Given the description of an element on the screen output the (x, y) to click on. 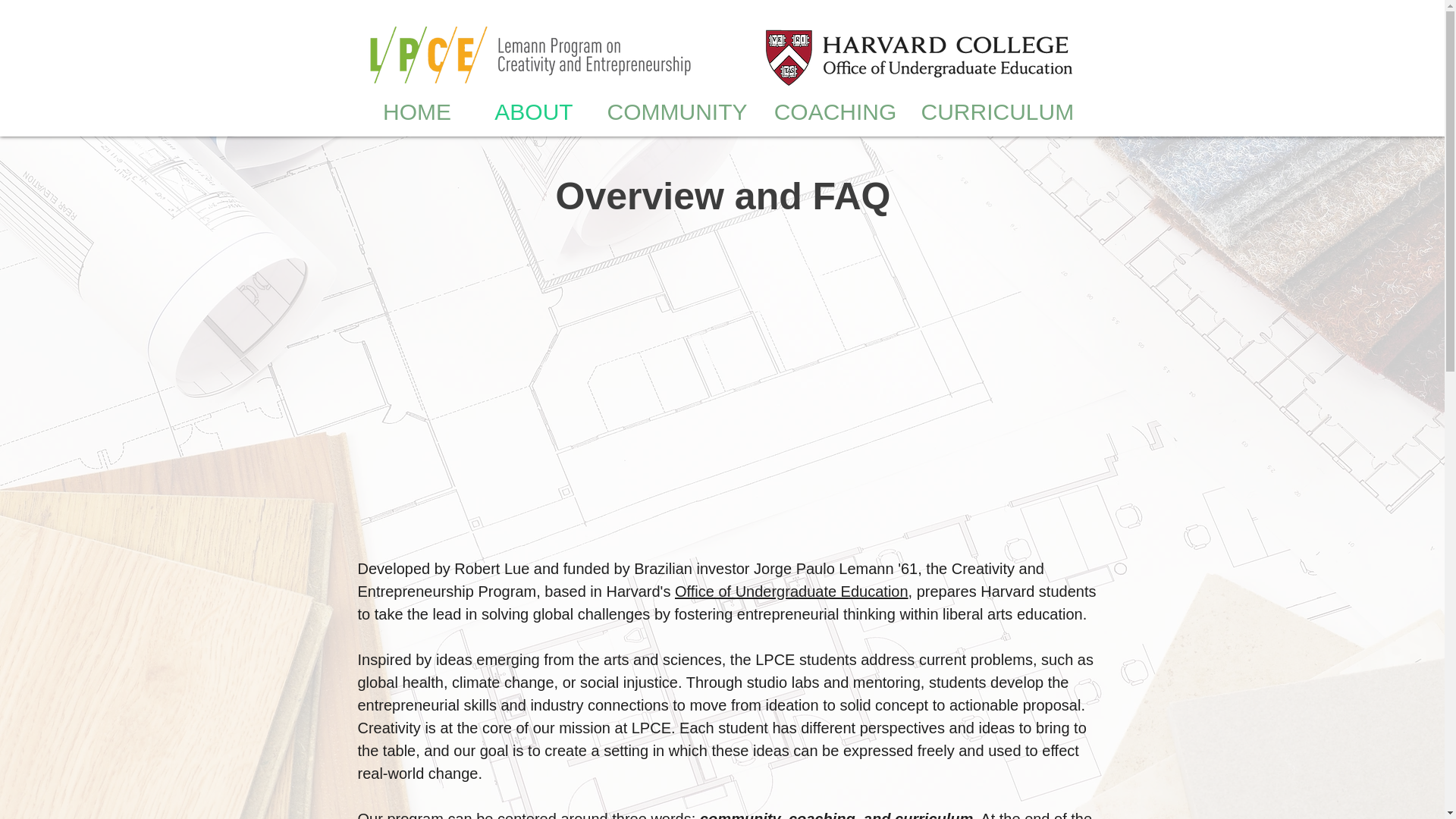
COMMUNITY (676, 111)
ABOUT (534, 111)
CURRICULUM (995, 111)
COACHING (835, 111)
Office of Undergraduate Education (791, 591)
HOME (416, 111)
